Given the description of an element on the screen output the (x, y) to click on. 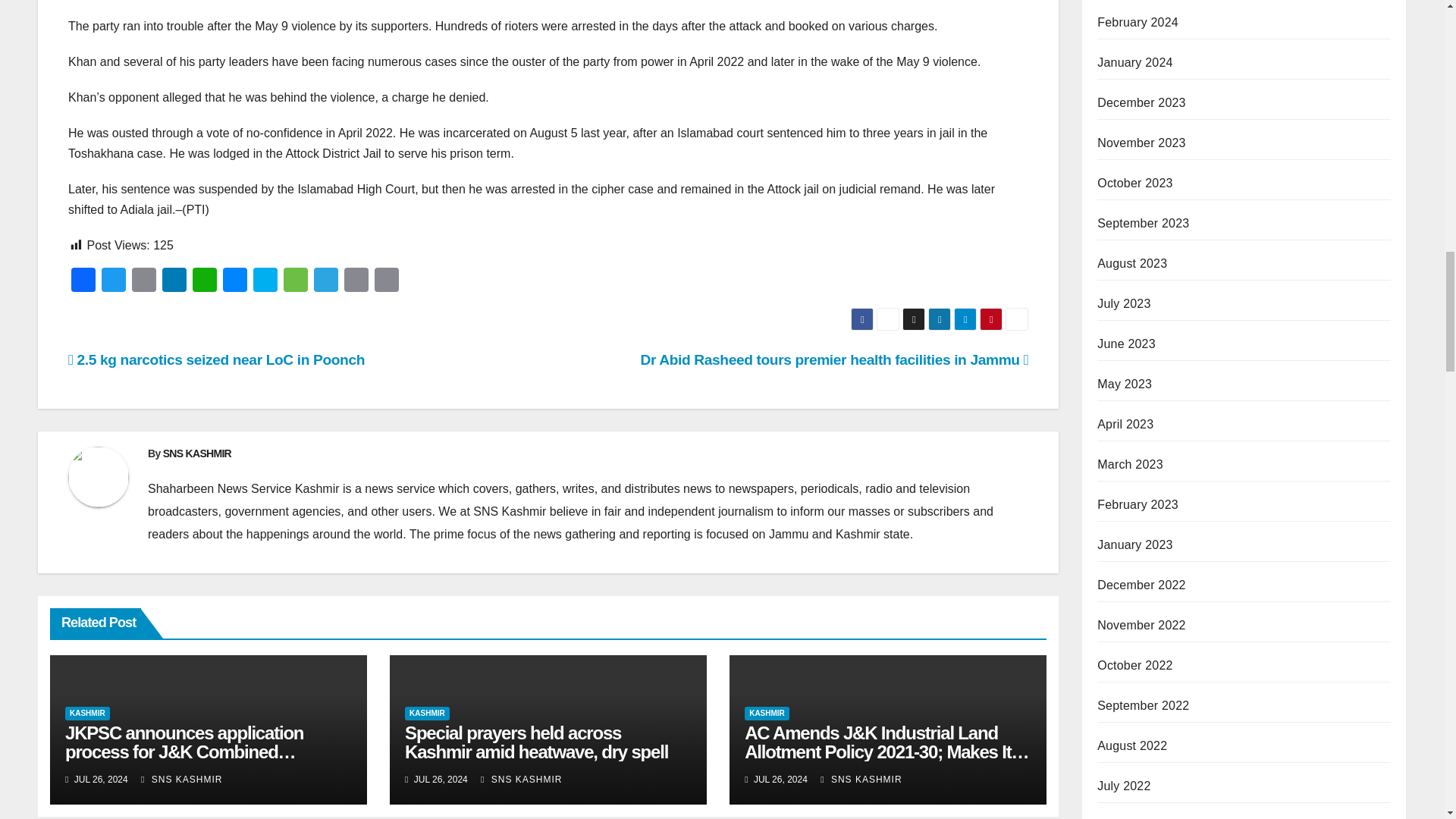
Facebook (83, 281)
Twitter (114, 281)
Email (143, 281)
